Given the description of an element on the screen output the (x, y) to click on. 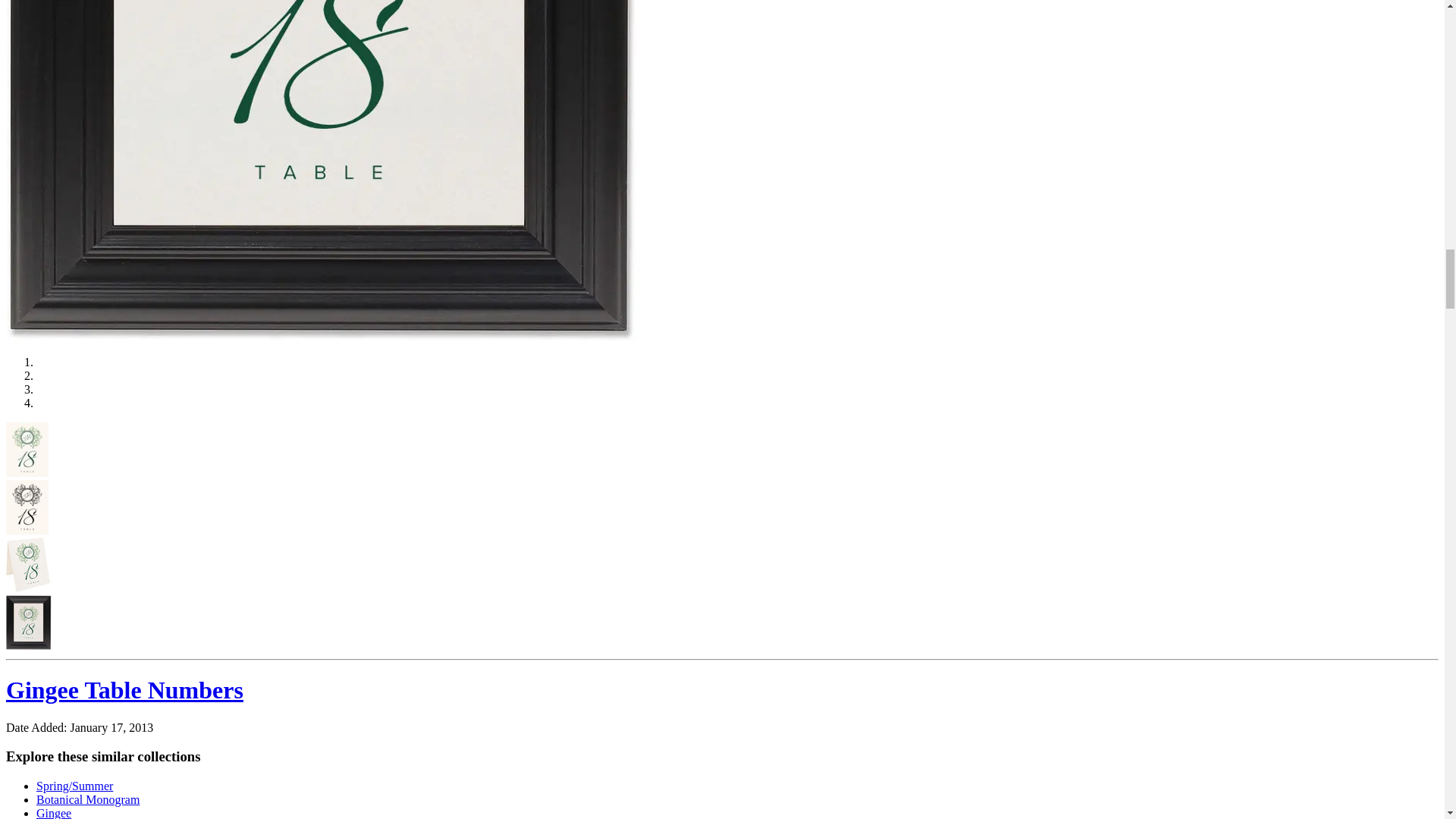
Gingee  Table Numbers (26, 506)
Framed Photograph of Gingee Table Numbers (27, 622)
Photograph of Tented Gingee Table Numbers (27, 564)
Gingee  Table Numbers (26, 449)
